Given the description of an element on the screen output the (x, y) to click on. 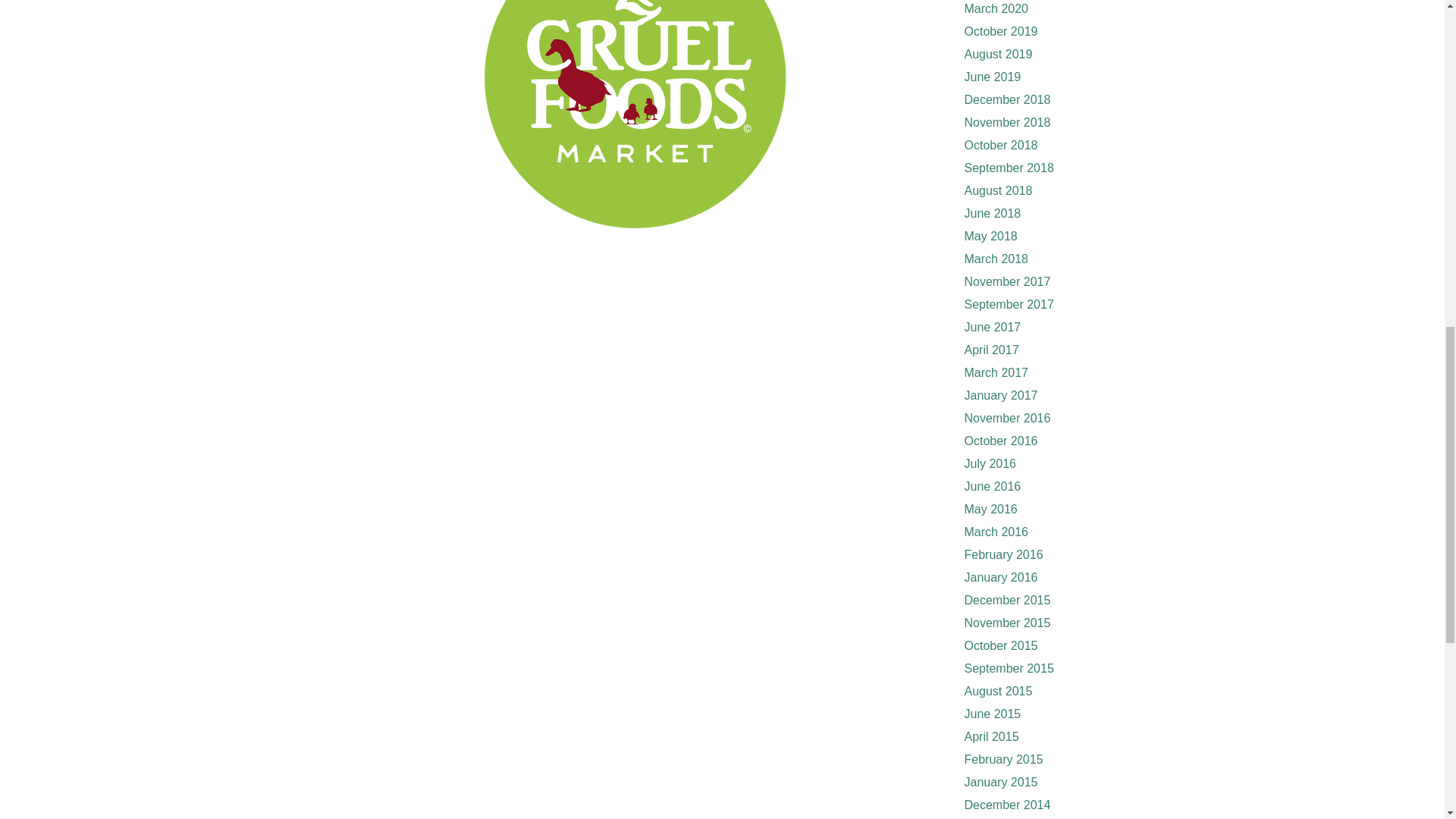
November 2018 (1007, 122)
June 2019 (992, 76)
October 2018 (1000, 144)
October 2019 (1000, 31)
August 2018 (997, 190)
August 2019 (997, 53)
June 2018 (992, 213)
September 2018 (1008, 167)
December 2018 (1007, 99)
March 2020 (996, 8)
